Given the description of an element on the screen output the (x, y) to click on. 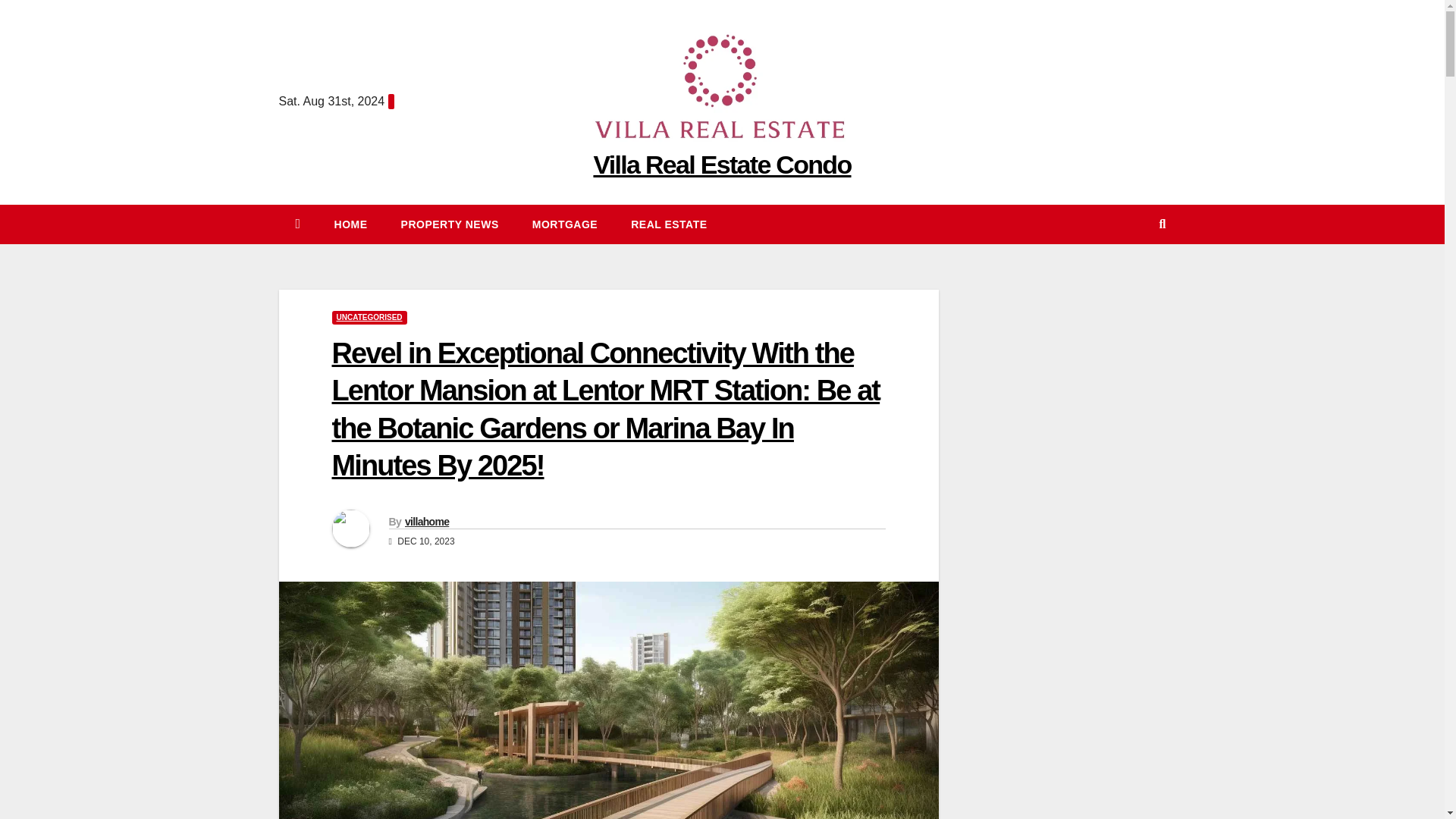
villahome (426, 521)
MORTGAGE (564, 224)
PROPERTY NEWS (449, 224)
Property News (449, 224)
Home (350, 224)
Mortgage (564, 224)
Real Estate (668, 224)
UNCATEGORISED (369, 317)
REAL ESTATE (668, 224)
